Given the description of an element on the screen output the (x, y) to click on. 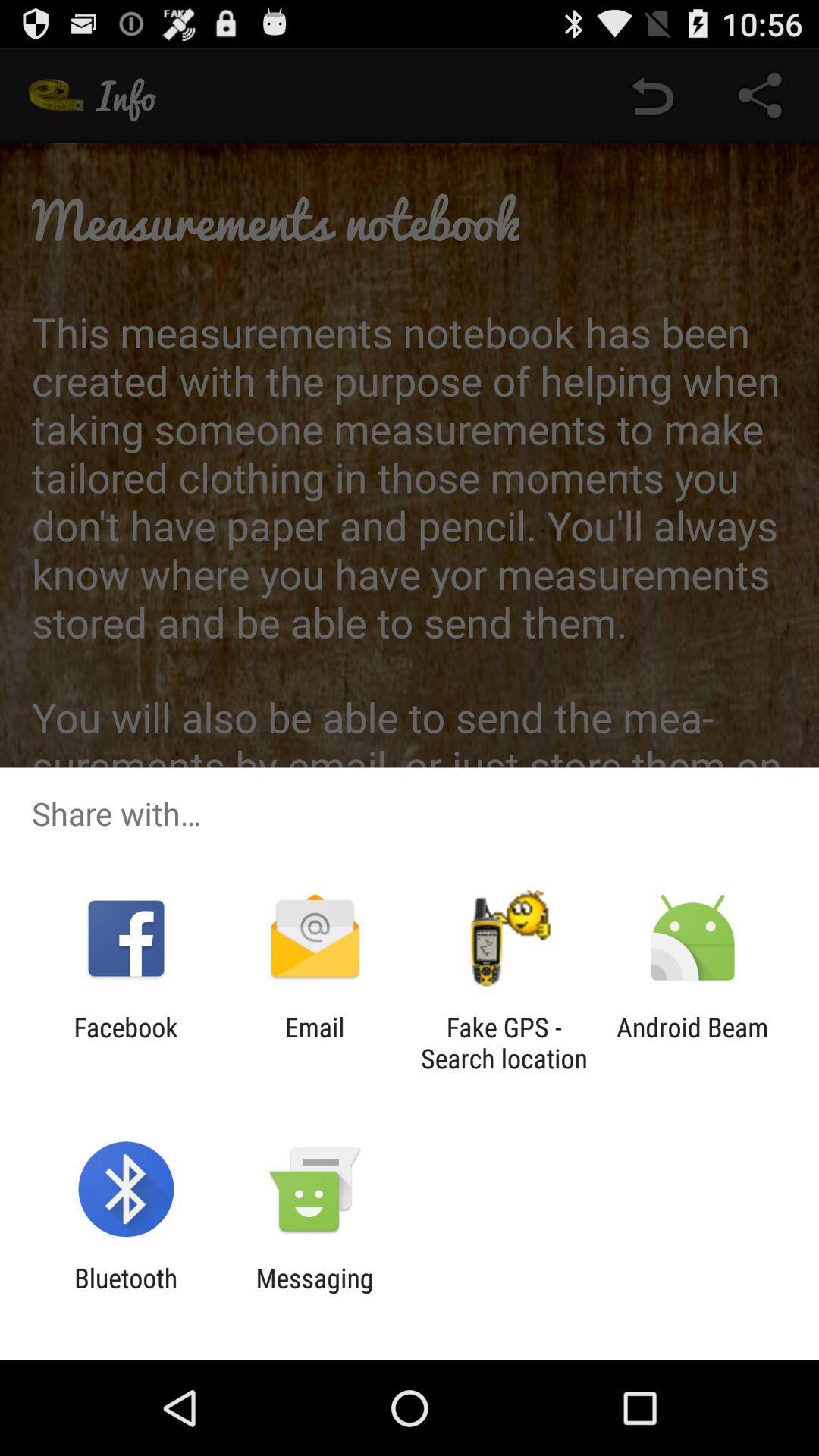
open the icon to the left of messaging item (125, 1293)
